Given the description of an element on the screen output the (x, y) to click on. 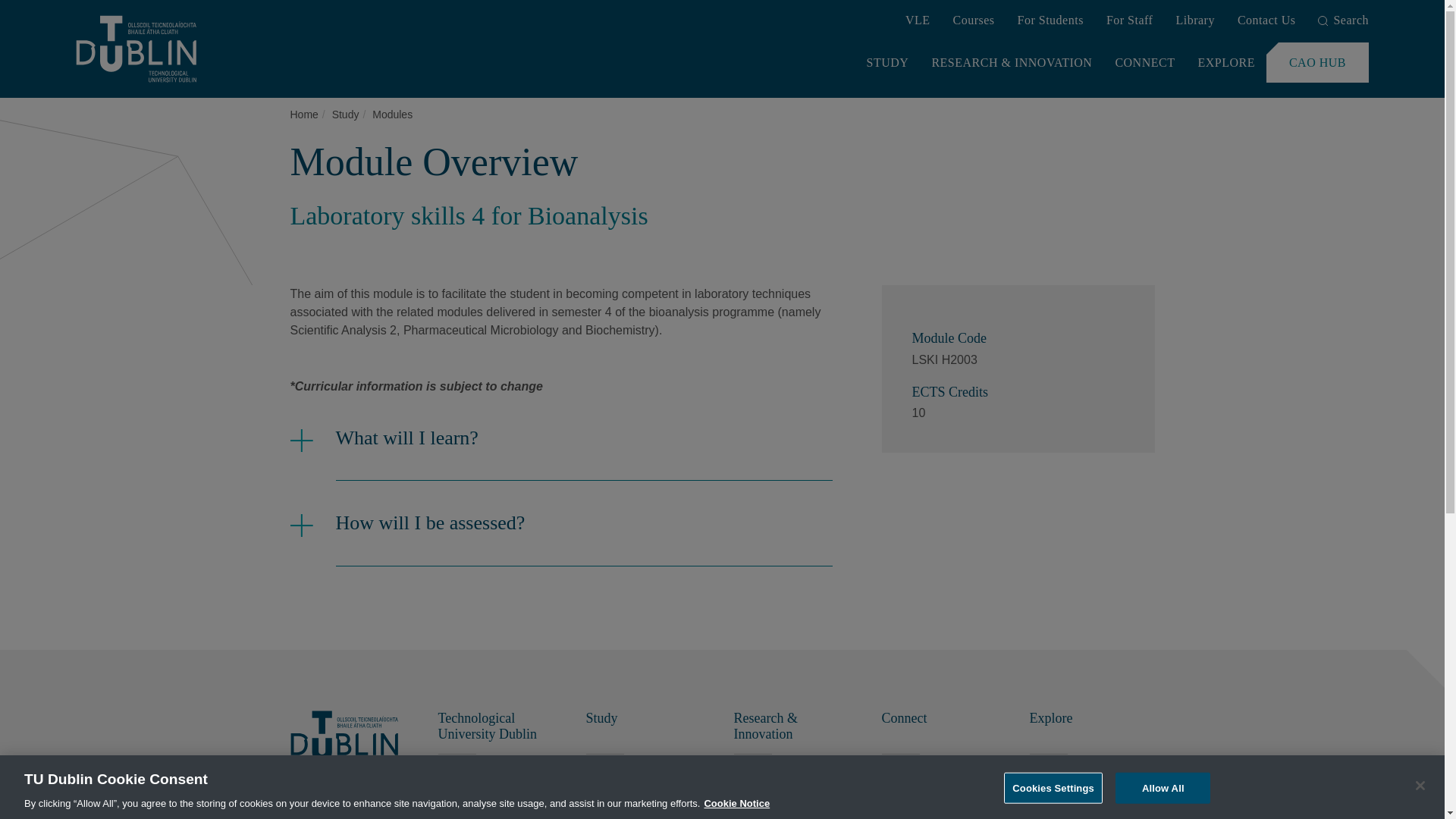
Library (1194, 21)
For Students (1050, 21)
Search (1342, 21)
CAO HUB (1317, 62)
STUDY (888, 62)
For Staff (1129, 21)
Courses (973, 21)
Contact Us (1266, 21)
VLE (917, 21)
